Given the description of an element on the screen output the (x, y) to click on. 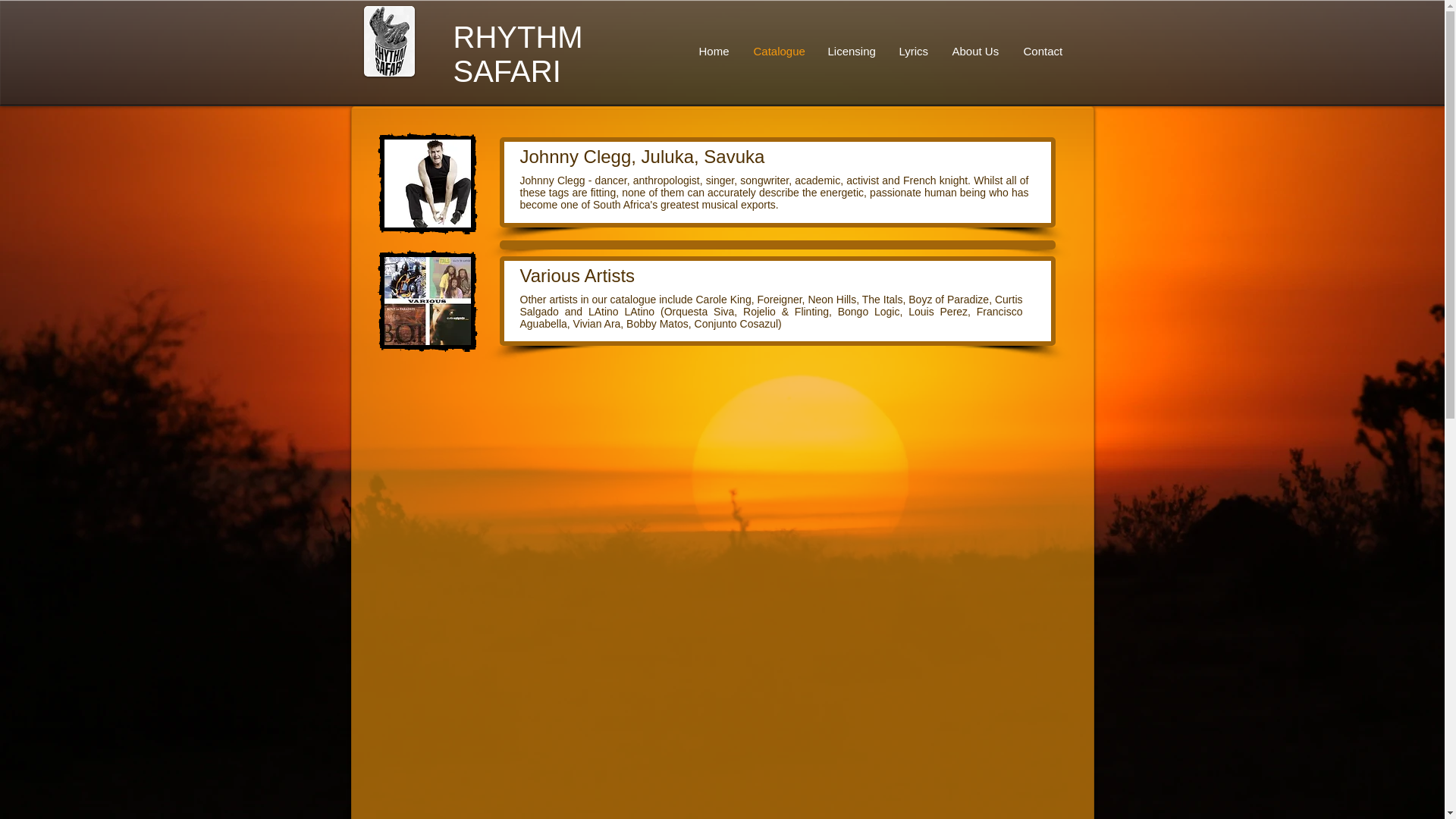
Home (714, 49)
Licensing (850, 49)
Contact (1042, 49)
Catalogue (778, 49)
Johnny Clegg, Juluka, Savuka (642, 156)
Various Artists (576, 275)
Lyrics (913, 49)
RHYTHM SAFARI (517, 53)
About Us (975, 49)
